Given the description of an element on the screen output the (x, y) to click on. 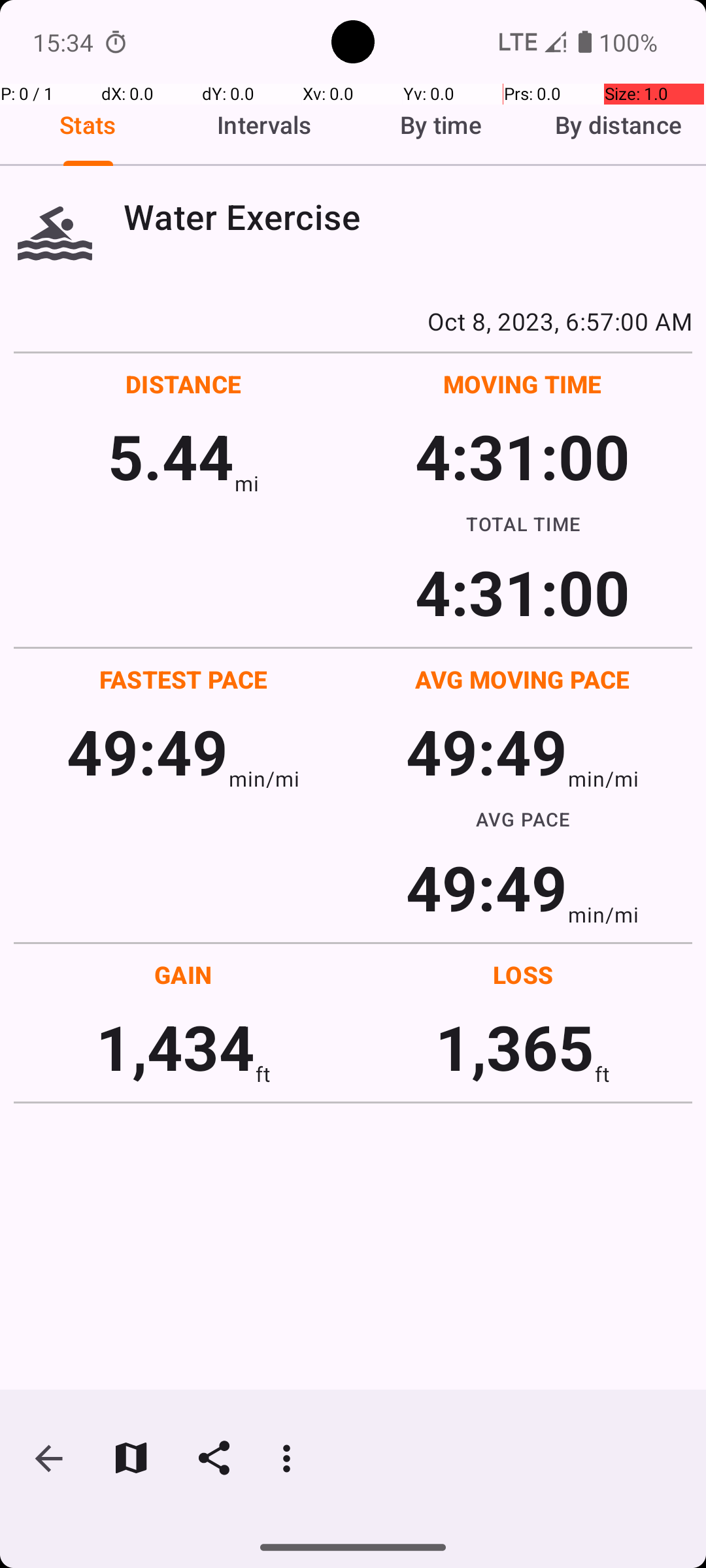
Water Exercise Element type: android.widget.TextView (407, 216)
Oct 8, 2023, 6:57:00 AM Element type: android.widget.TextView (352, 320)
5.44 Element type: android.widget.TextView (170, 455)
4:31:00 Element type: android.widget.TextView (522, 455)
49:49 Element type: android.widget.TextView (147, 750)
1,434 Element type: android.widget.TextView (175, 1045)
1,365 Element type: android.widget.TextView (514, 1045)
